Given the description of an element on the screen output the (x, y) to click on. 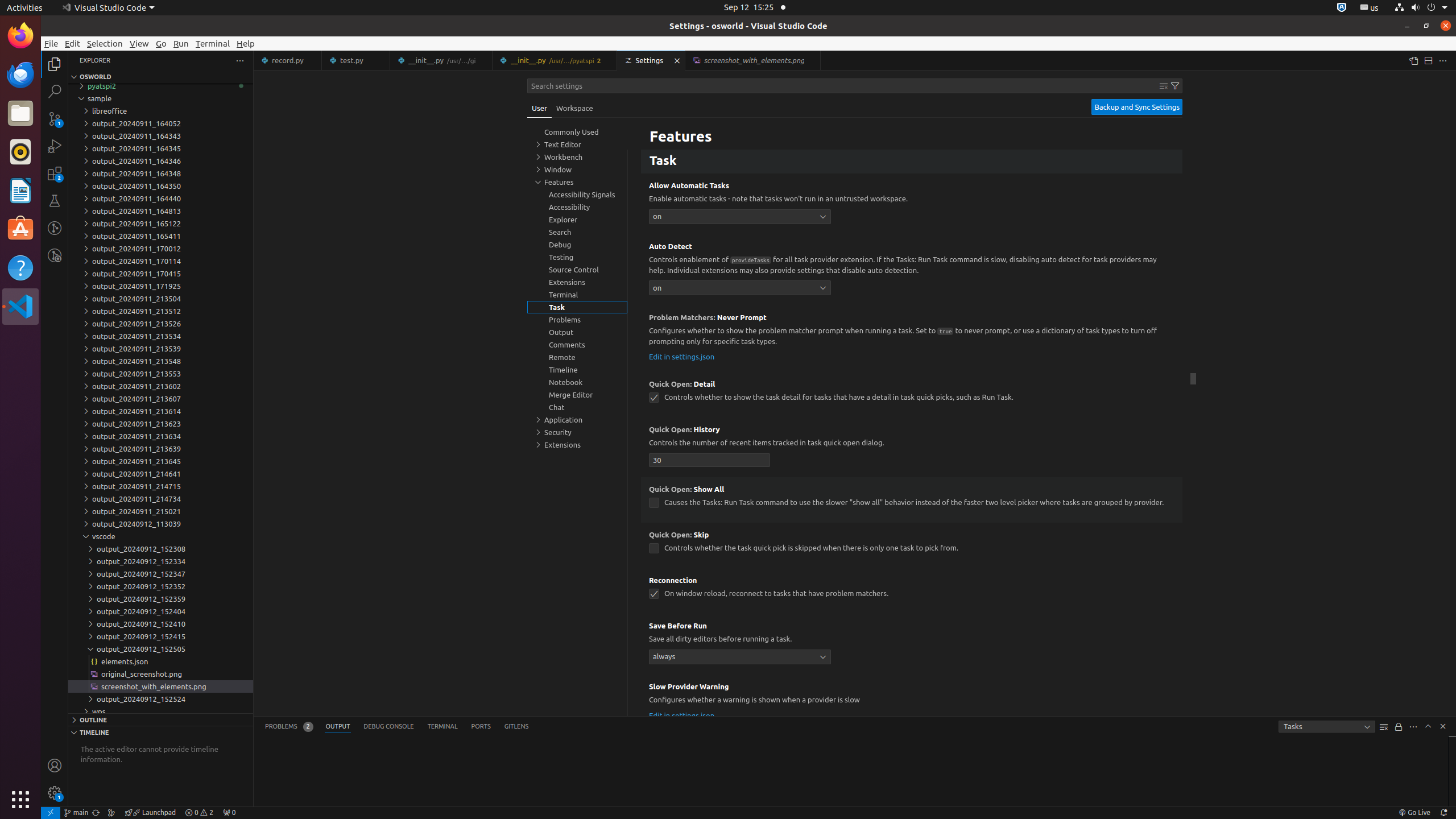
Extensions, group Element type: tree-item (577, 444)
Comments, group Element type: tree-item (577, 344)
always Element type: menu-item (739, 656)
Accessibility Signals, group Element type: tree-item (577, 194)
output_20240911_214641 Element type: tree-item (160, 473)
